Given the description of an element on the screen output the (x, y) to click on. 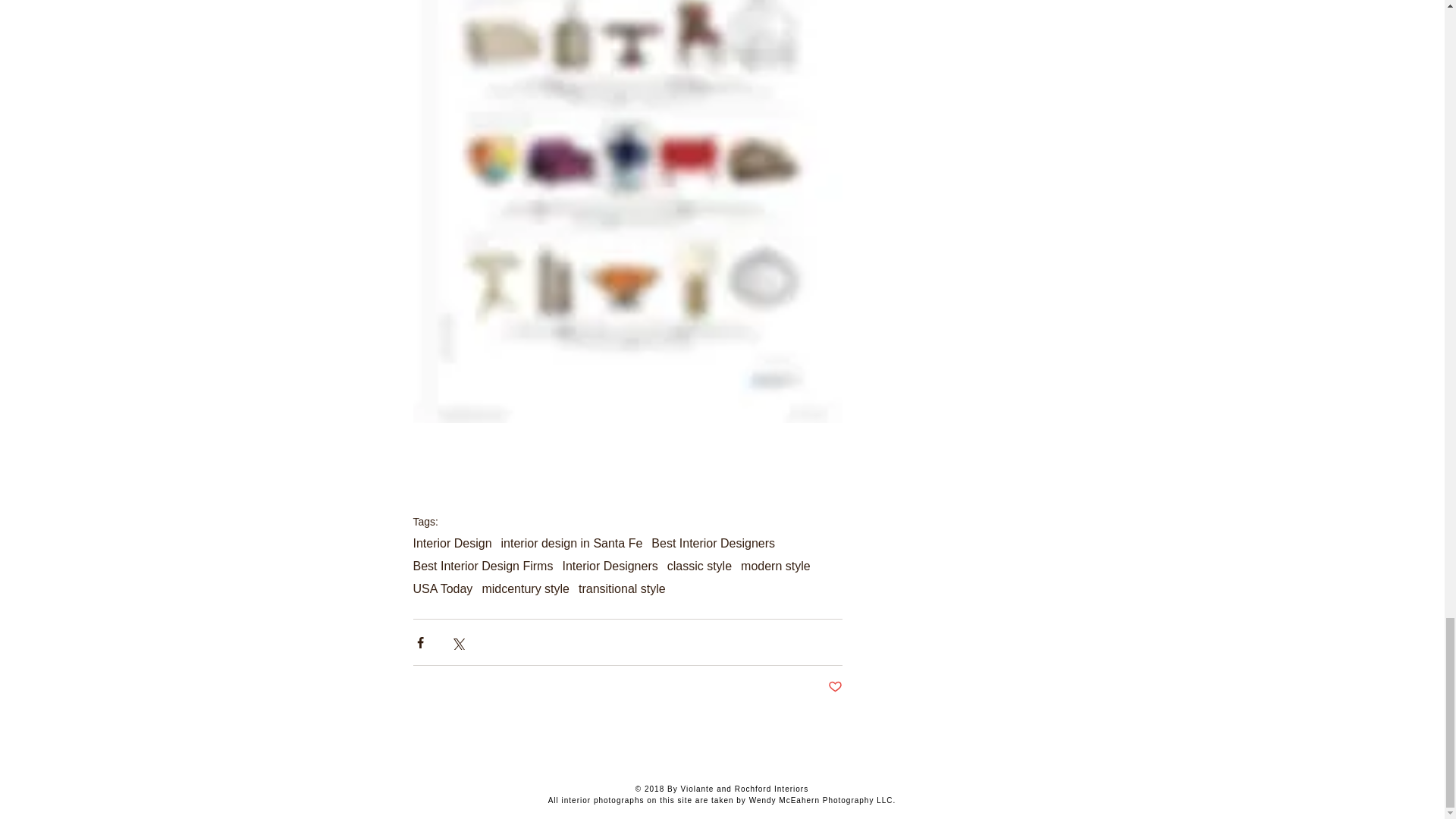
interior design in Santa Fe (571, 543)
Interior Designers (610, 566)
classic style (699, 566)
modern style (775, 566)
midcentury style (525, 589)
Interior Design (452, 543)
USA Today (441, 589)
transitional style (621, 589)
Best Interior Designers (712, 543)
Best Interior Design Firms (482, 566)
